Given the description of an element on the screen output the (x, y) to click on. 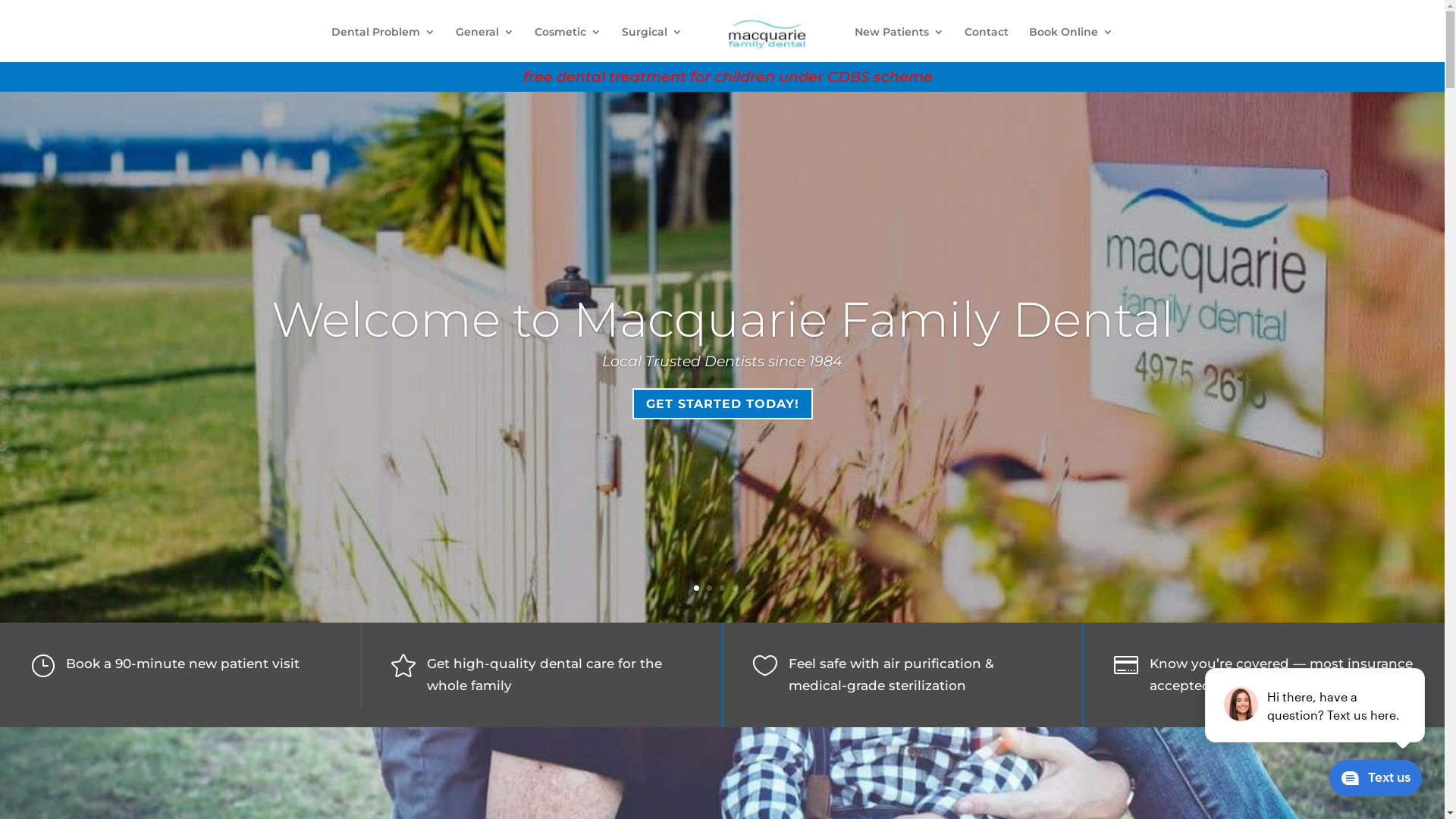
Book Online Element type: text (1071, 44)
New Patients Element type: text (899, 44)
Dental Problem Element type: text (383, 44)
General Element type: text (484, 44)
5 Element type: text (747, 587)
3 Element type: text (721, 587)
4 Element type: text (734, 587)
GET STARTED TODAY! Element type: text (722, 403)
Cosmetic Element type: text (567, 44)
Contact Element type: text (986, 44)
Surgical Element type: text (651, 44)
1 Element type: text (696, 587)
podium webchat widget prompt Element type: hover (1315, 705)
2 Element type: text (709, 587)
